Given the description of an element on the screen output the (x, y) to click on. 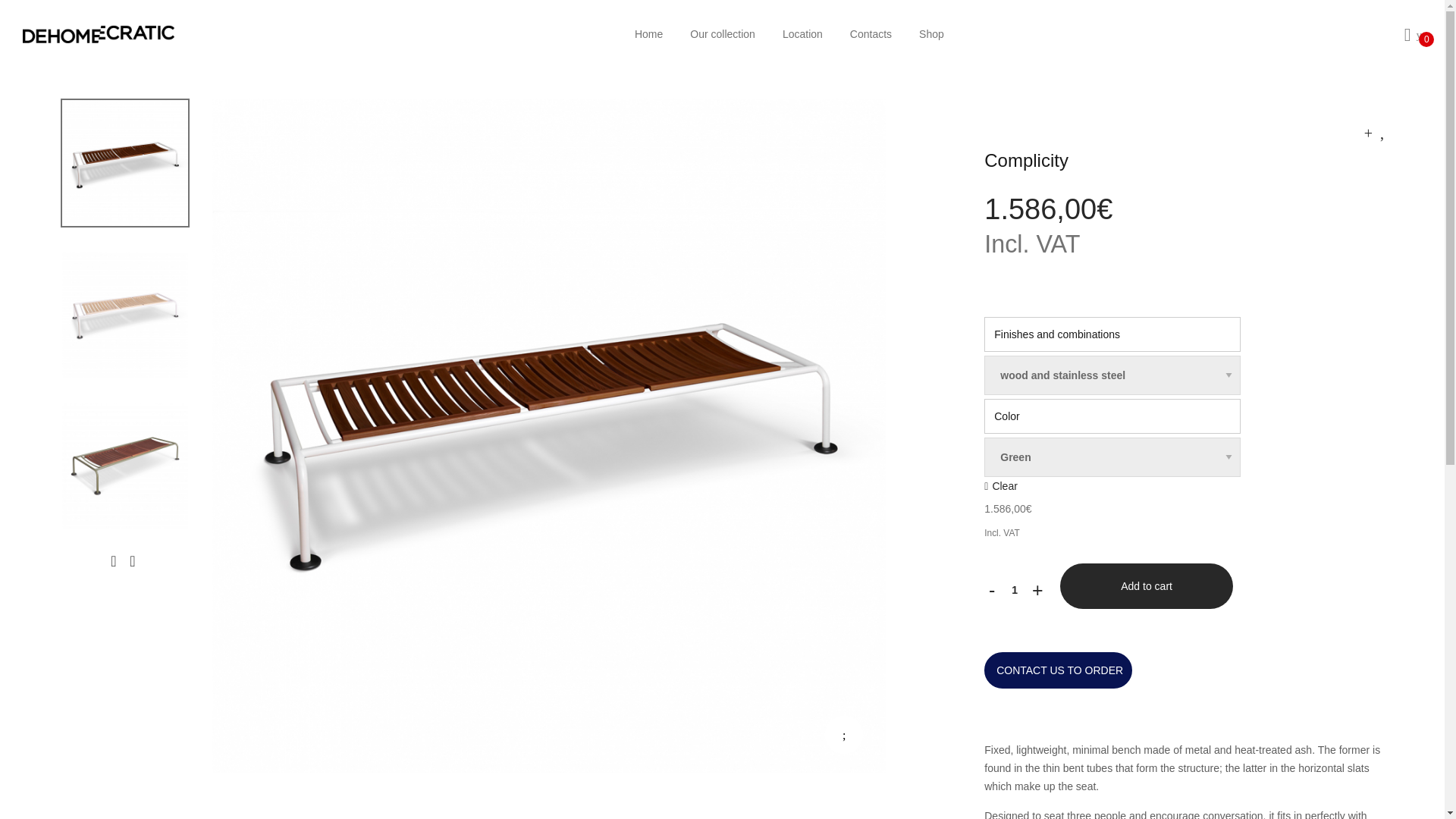
Contacts (870, 33)
CONTACT US TO ORDER (1058, 669)
Our collection (722, 33)
Clear (1000, 485)
1 (1014, 589)
Location (801, 33)
Add to cart (1146, 586)
